Given the description of an element on the screen output the (x, y) to click on. 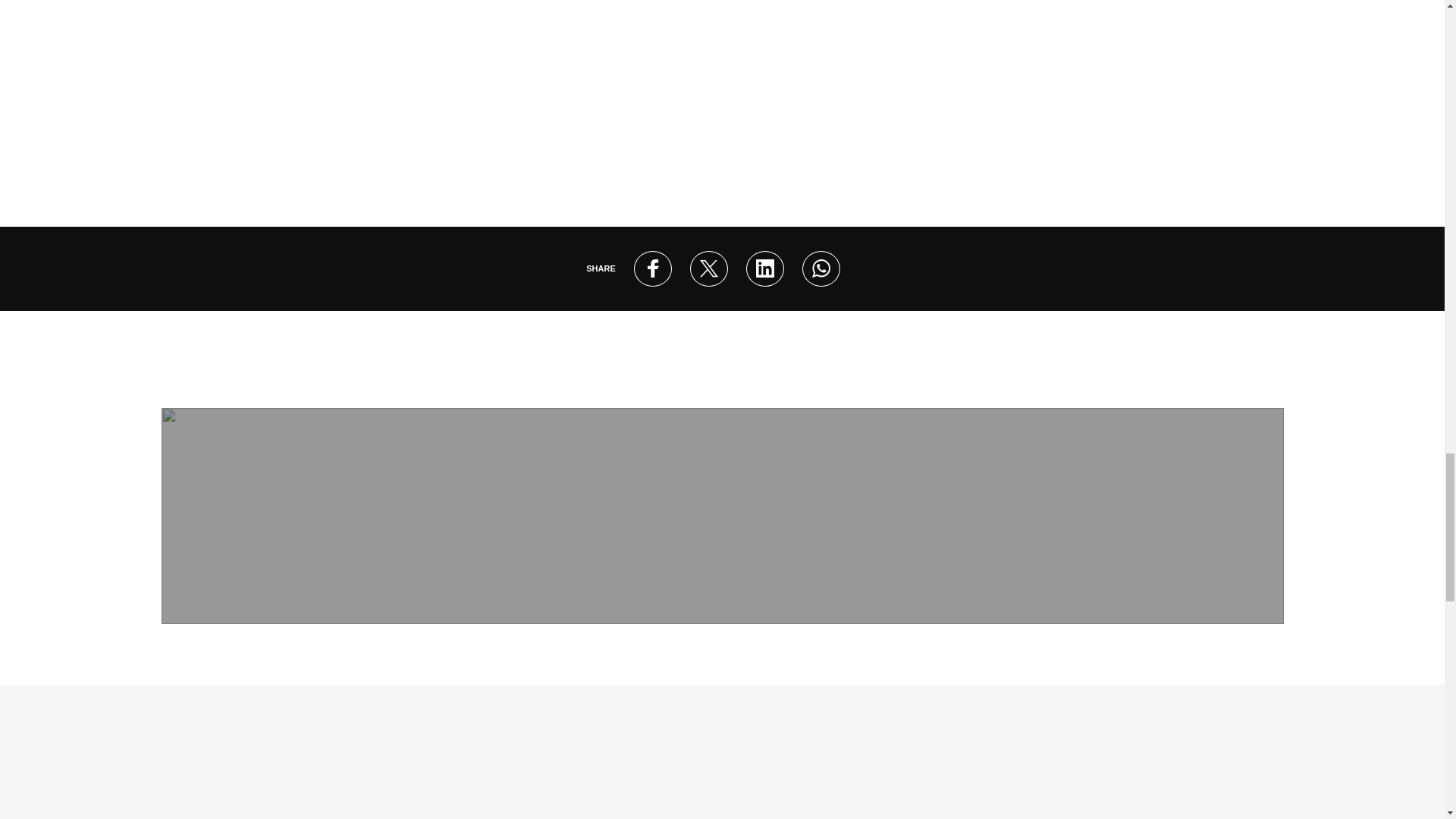
whatsapp (820, 268)
facebook (652, 268)
twitter (708, 268)
linkedin (764, 268)
